Given the description of an element on the screen output the (x, y) to click on. 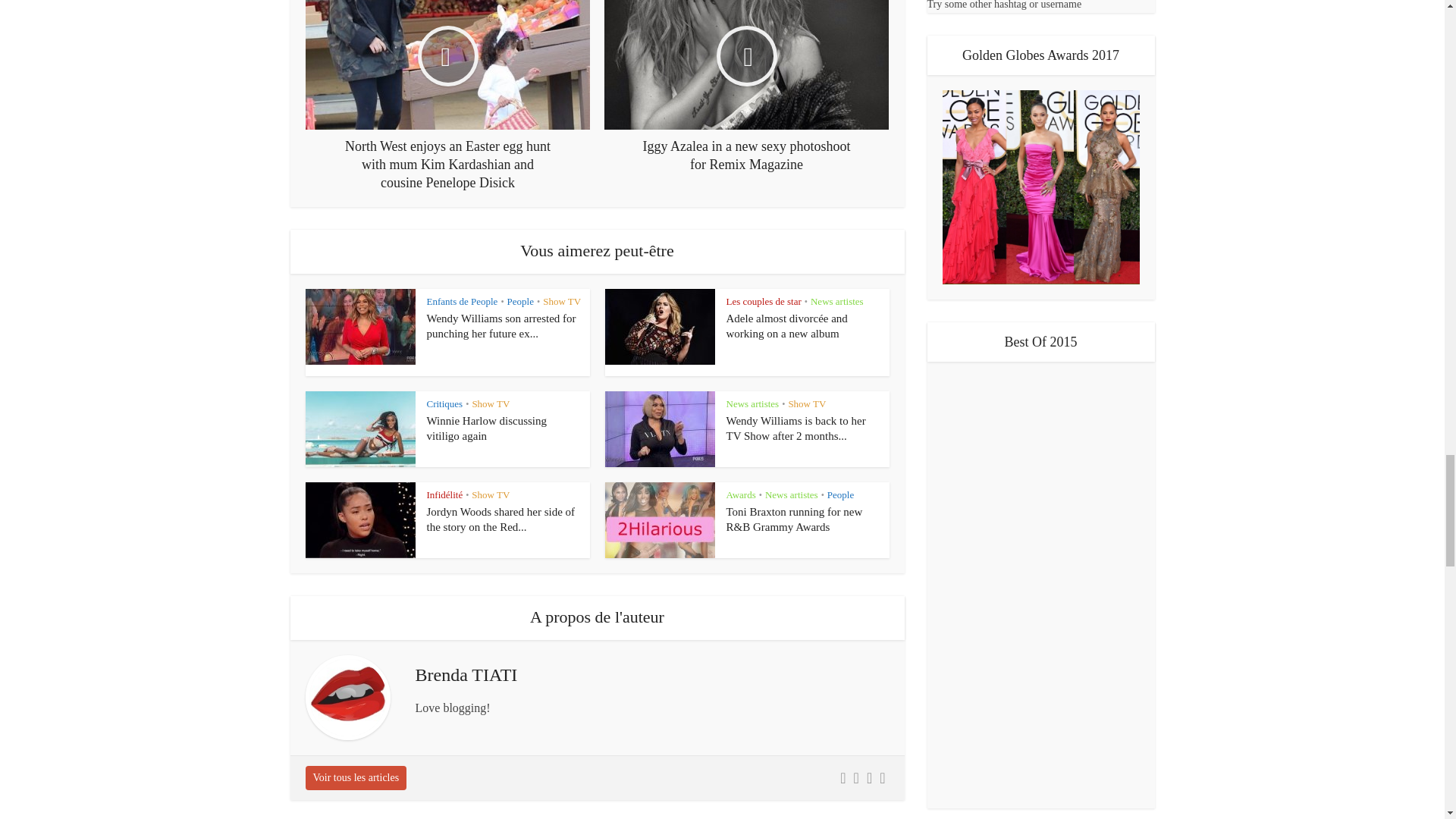
Winnie Harlow discussing vitiligo again (486, 428)
Wendy Williams is back to her TV Show after 2 months hiatus (796, 428)
